Given the description of an element on the screen output the (x, y) to click on. 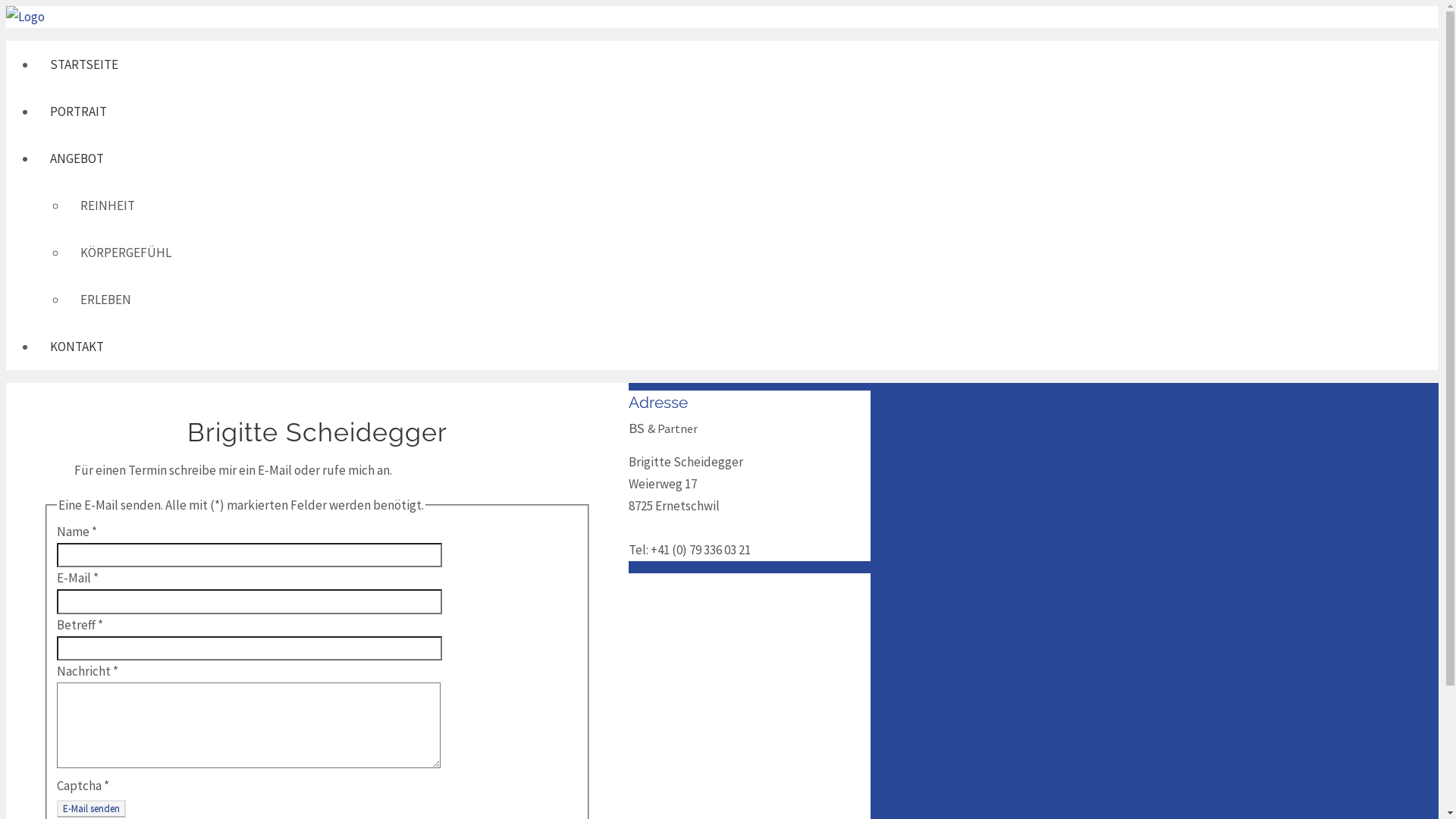
ERLEBEN Element type: text (468, 299)
ANGEBOT Element type: text (453, 158)
E-Mail senden Element type: text (90, 808)
KONTAKT Element type: text (453, 346)
PORTRAIT Element type: text (453, 110)
STARTSEITE Element type: text (453, 63)
REINHEIT Element type: text (468, 205)
